Given the description of an element on the screen output the (x, y) to click on. 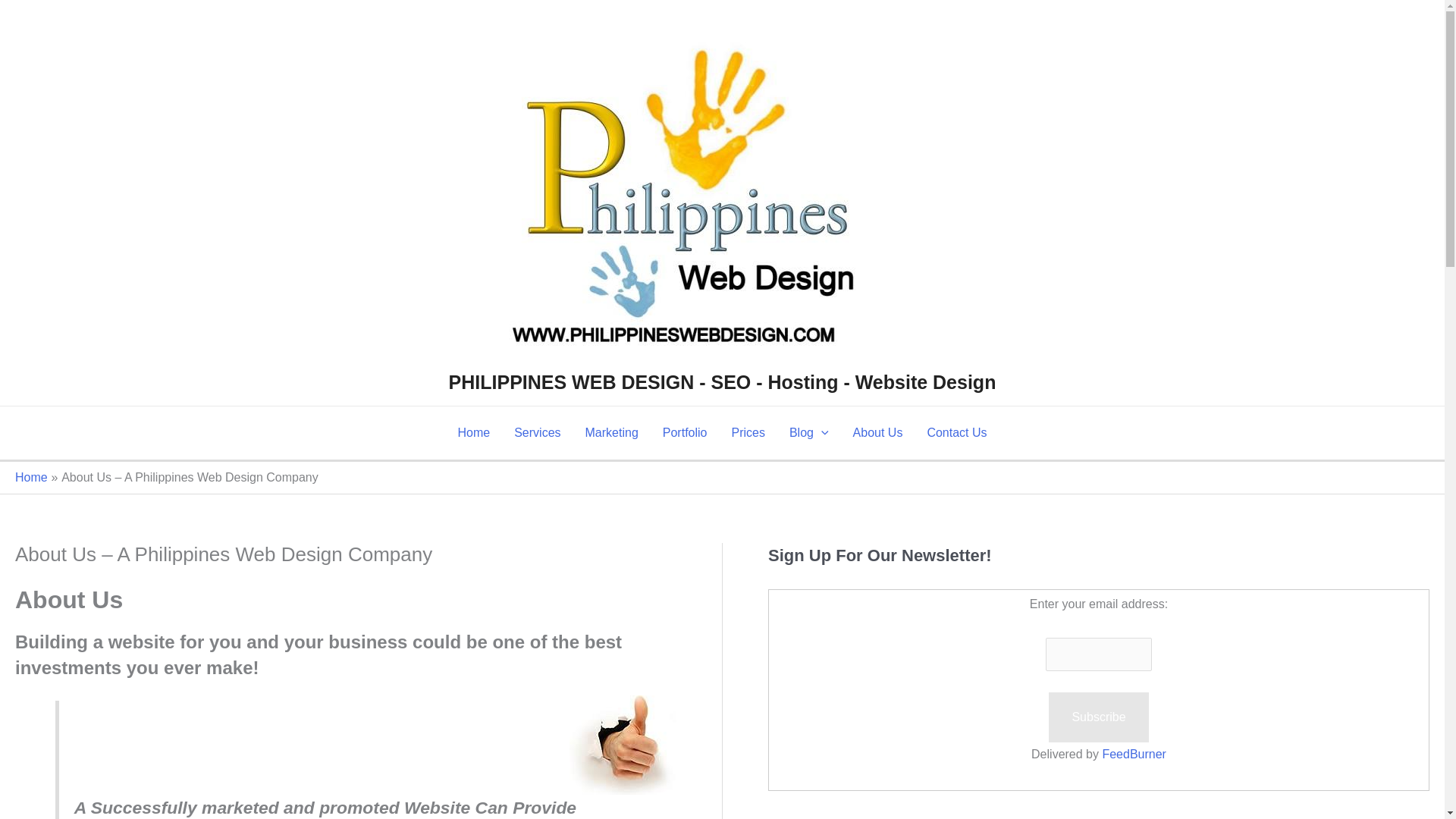
PHILIPPINES WEB DESIGN - SEO - Hosting - Website Design (721, 382)
Web Design Services (537, 432)
Contact Us (956, 432)
Marketing (611, 432)
Best Prices for Web Design and Internet Marketing Services (747, 432)
Home (473, 432)
Services (537, 432)
Web Design and Marketing Portfolio (684, 432)
Prices (747, 432)
Internet Marketing Services (611, 432)
Subscribe (1098, 717)
About Us (878, 432)
Portfolio (684, 432)
Blog (809, 432)
